Given the description of an element on the screen output the (x, y) to click on. 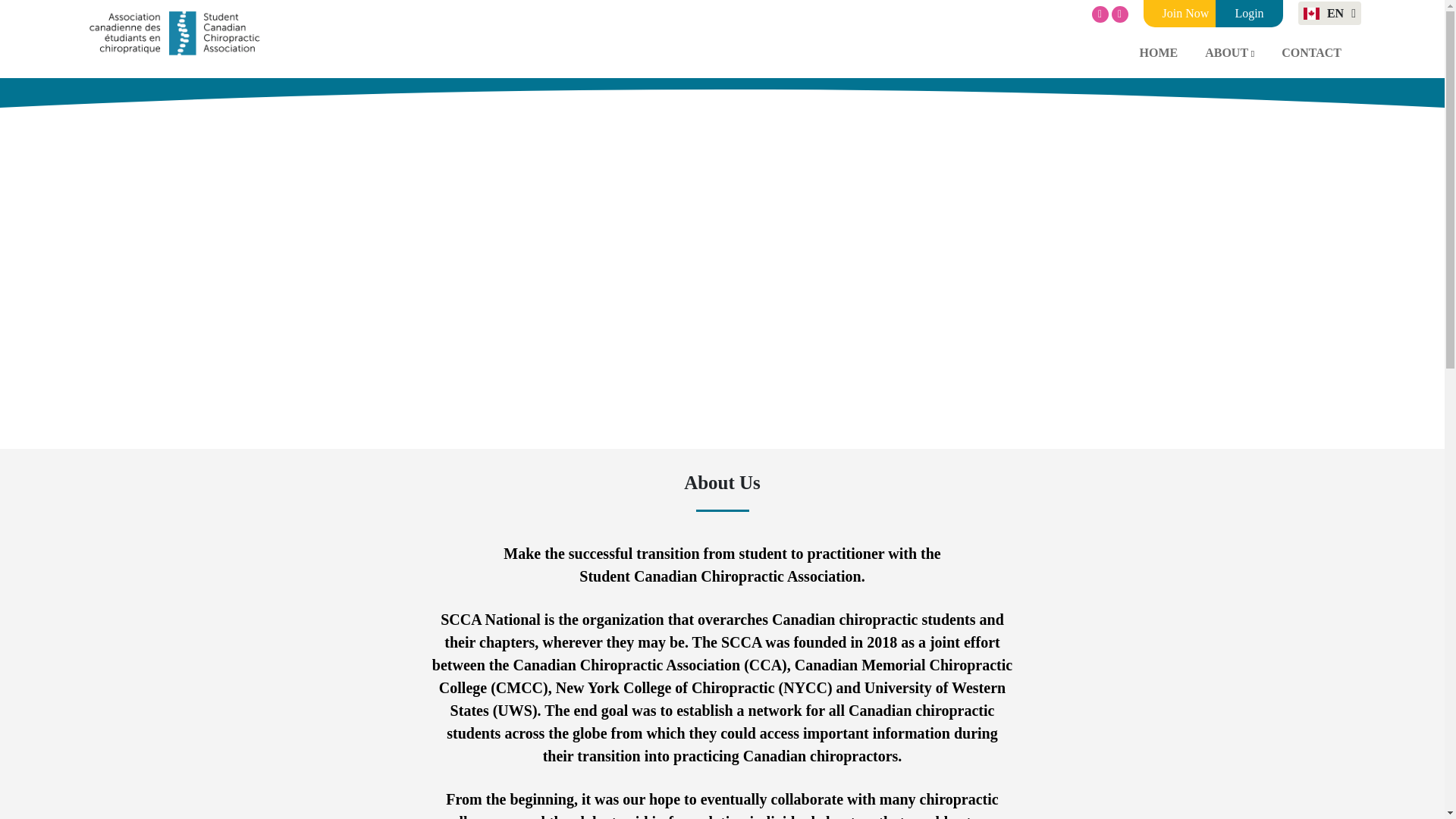
Join Now (1187, 13)
CONTACT (1310, 52)
ABOUT (1229, 52)
Login (1248, 13)
HOME (1157, 52)
